Given the description of an element on the screen output the (x, y) to click on. 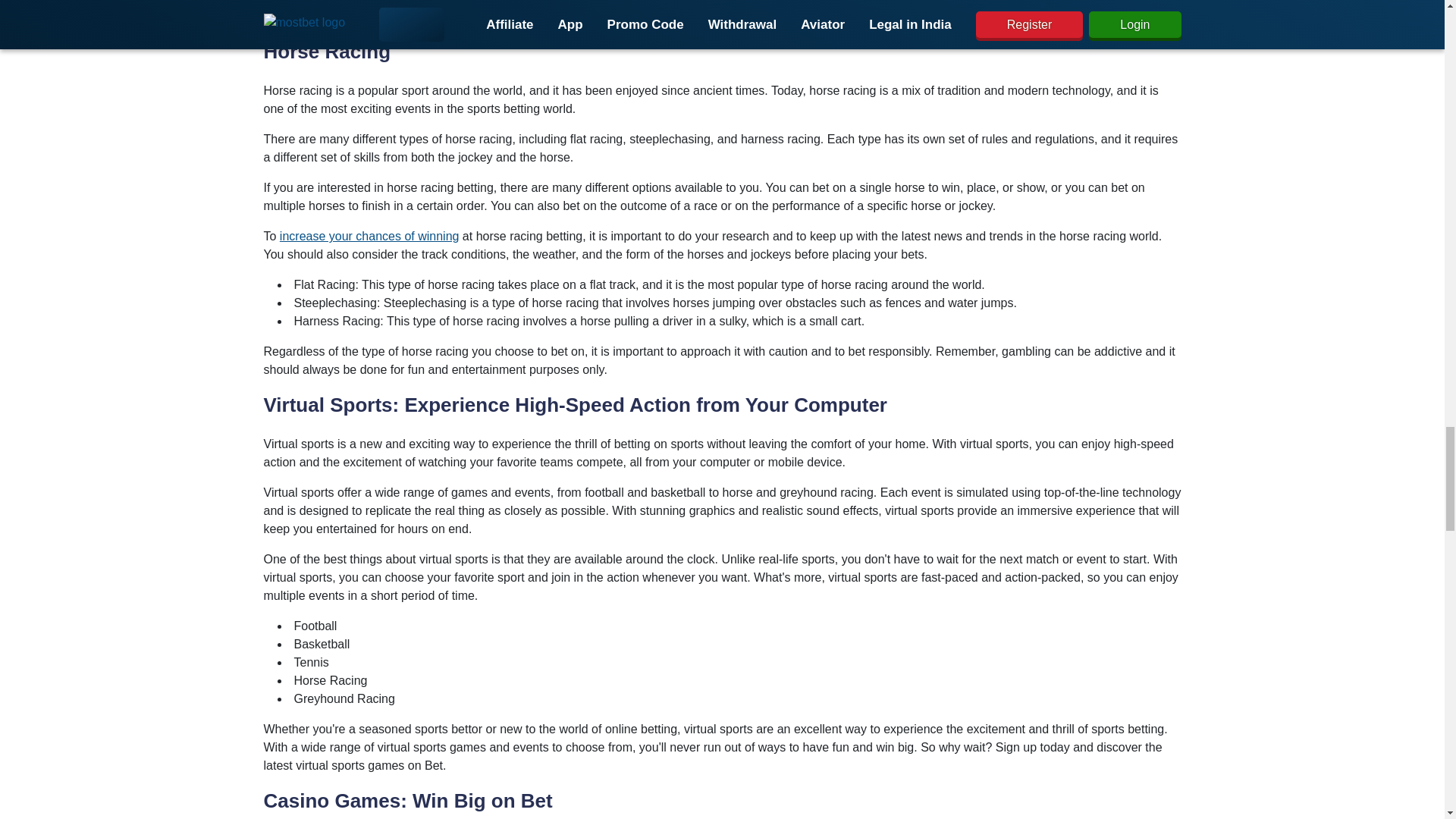
increase your chances of winning (369, 236)
betting and winning (405, 15)
